Given the description of an element on the screen output the (x, y) to click on. 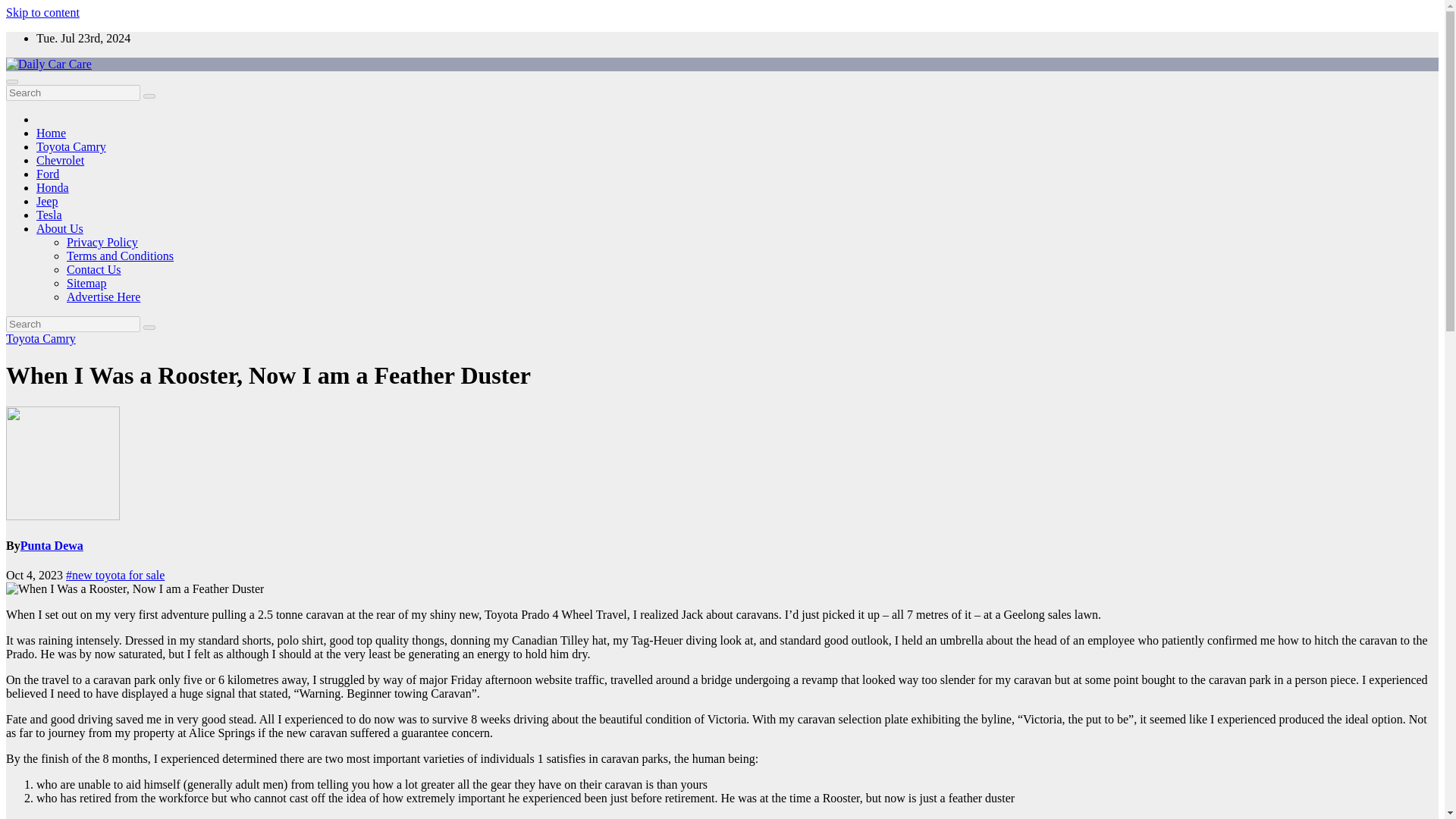
Ford (47, 173)
Privacy Policy (102, 241)
Jeep (47, 201)
Honda (52, 187)
Contact Us (93, 269)
Ford (47, 173)
Chevrolet (60, 160)
Toyota Camry (71, 146)
Daily Car Care (42, 89)
Contact Us (93, 269)
When I Was a Rooster, Now I am a Feather Duster (134, 589)
Jeep (47, 201)
Toyota Camry (71, 146)
Terms and Conditions (119, 255)
About Us (59, 228)
